Given the description of an element on the screen output the (x, y) to click on. 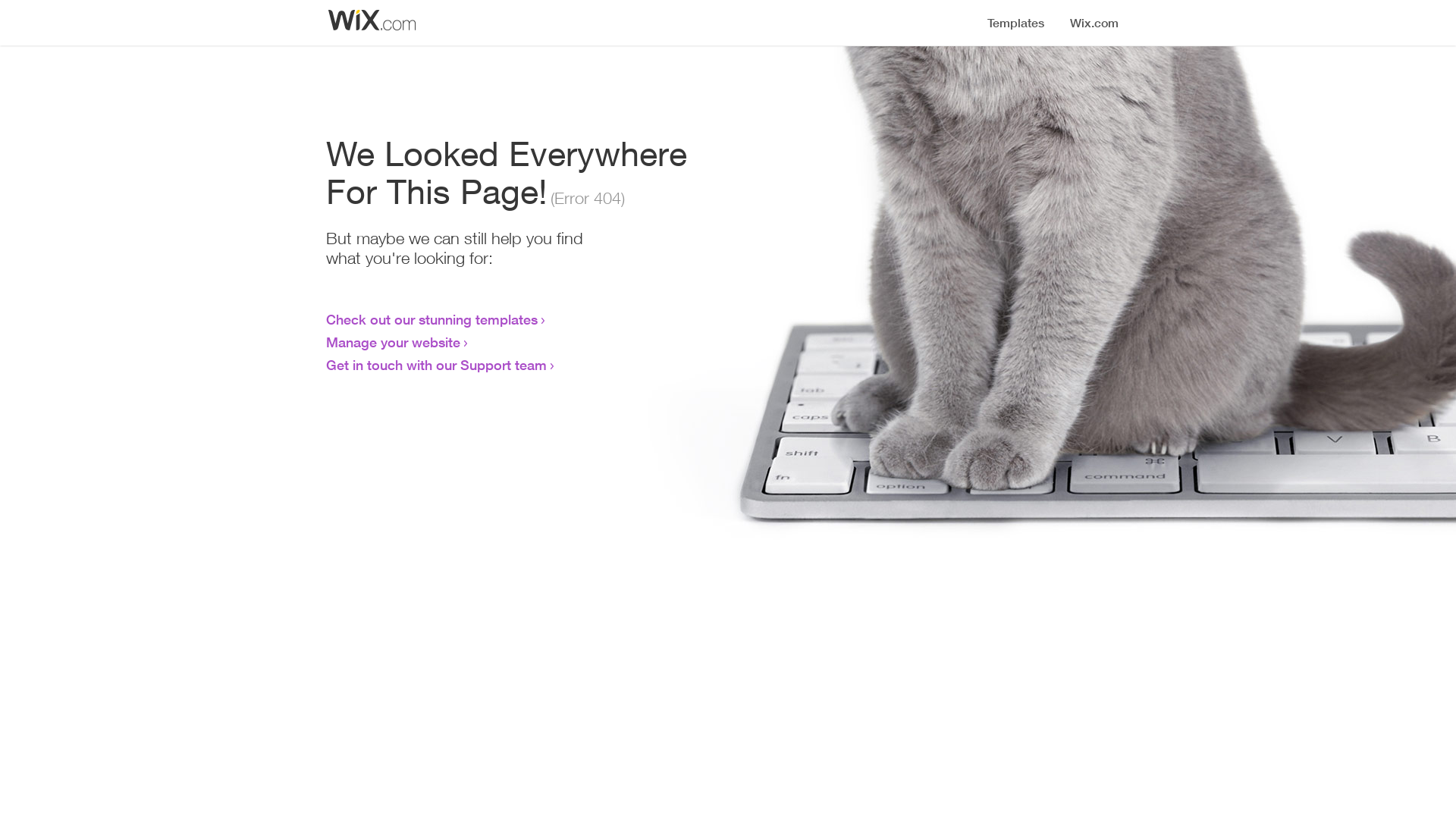
Check out our stunning templates Element type: text (431, 318)
Manage your website Element type: text (393, 341)
Get in touch with our Support team Element type: text (436, 364)
